Given the description of an element on the screen output the (x, y) to click on. 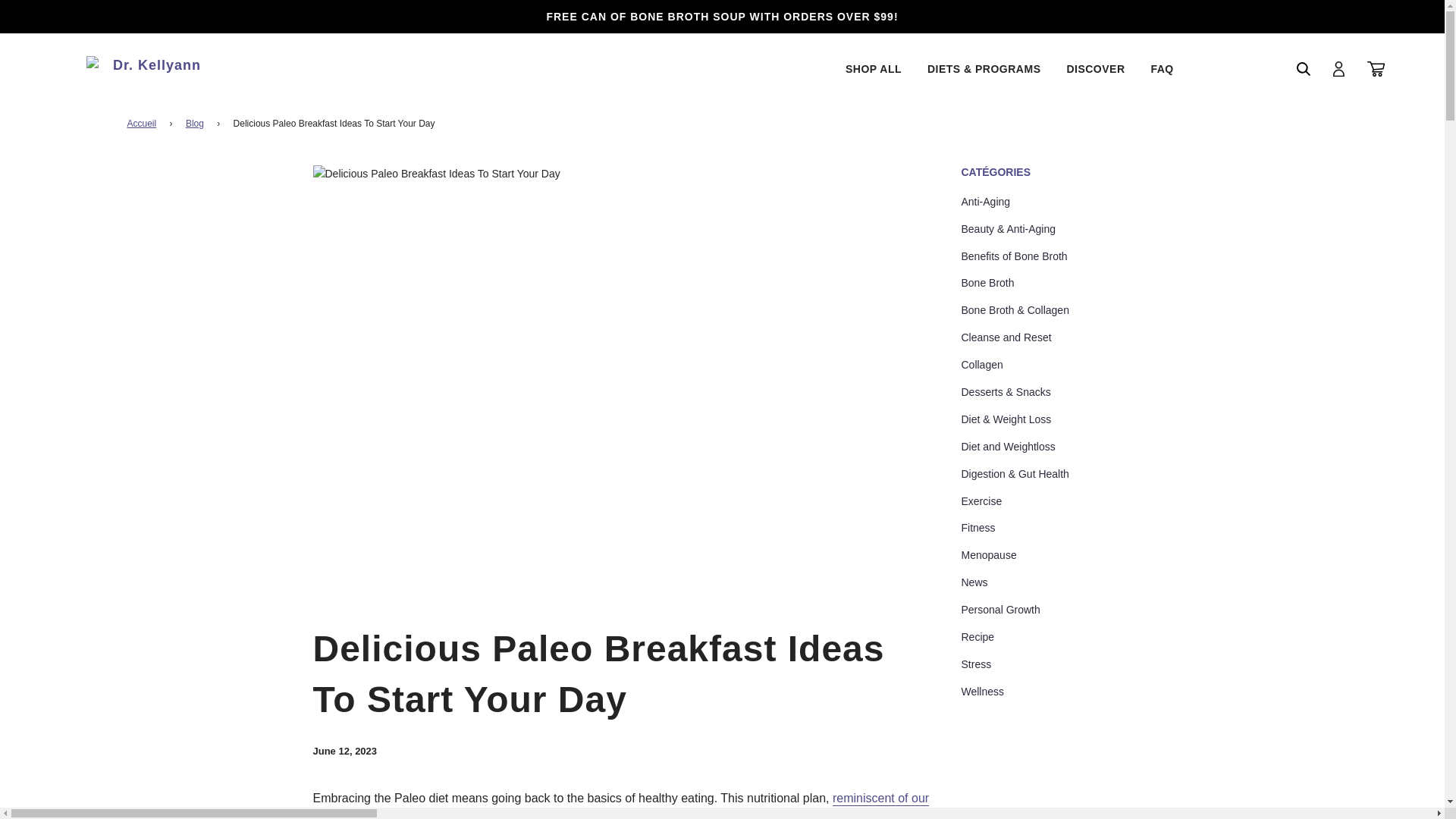
Show articles tagged Cleanse and Reset (1005, 337)
Show articles tagged Exercise (981, 500)
Show articles tagged Diet and Weightloss (1007, 446)
Se connecter (1338, 68)
Show articles tagged Anti-Aging (985, 201)
Show articles tagged Benefits of Bone Broth (1013, 256)
Show articles tagged Collagen (981, 364)
Show articles tagged Bone Broth (987, 282)
